Given the description of an element on the screen output the (x, y) to click on. 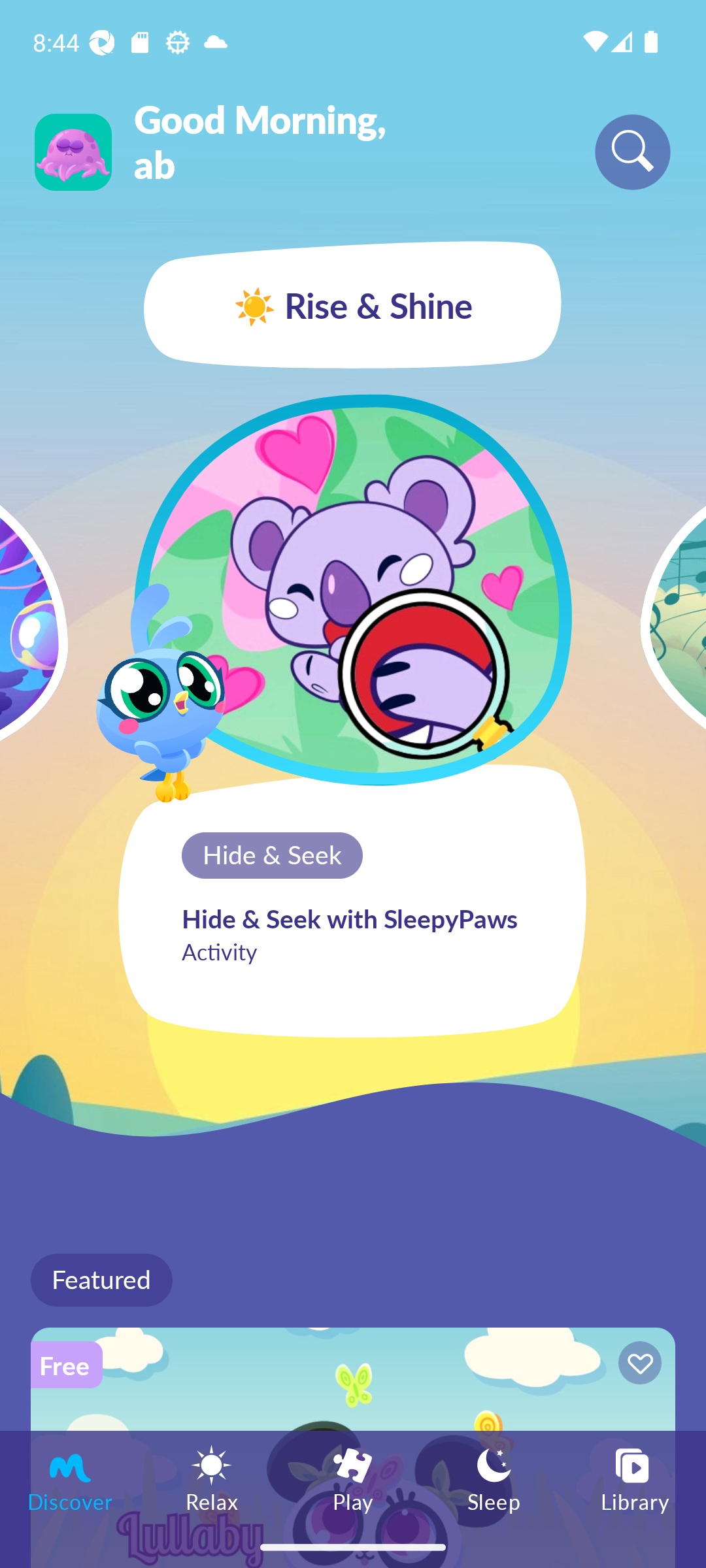
Search (632, 151)
Button (636, 1365)
Relax (211, 1478)
Play (352, 1478)
Sleep (493, 1478)
Library (635, 1478)
